Given the description of an element on the screen output the (x, y) to click on. 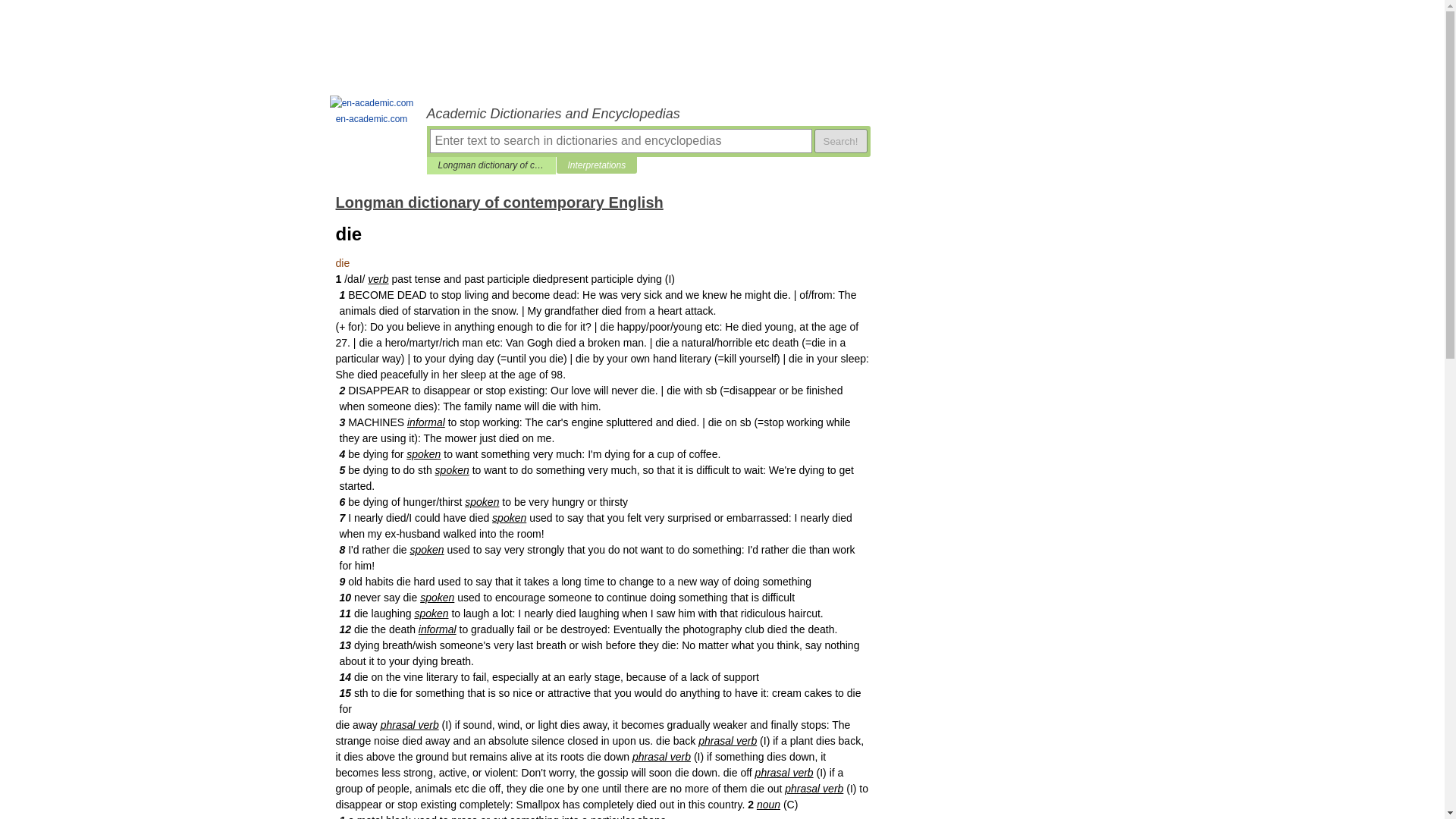
Search! (840, 140)
Longman dictionary of contemporary English (498, 202)
Interpretations (596, 165)
Longman dictionary of contemporary English (491, 165)
en-academic.com (371, 111)
Enter text to search in dictionaries and encyclopedias (619, 140)
Academic Dictionaries and Encyclopedias (647, 114)
